Given the description of an element on the screen output the (x, y) to click on. 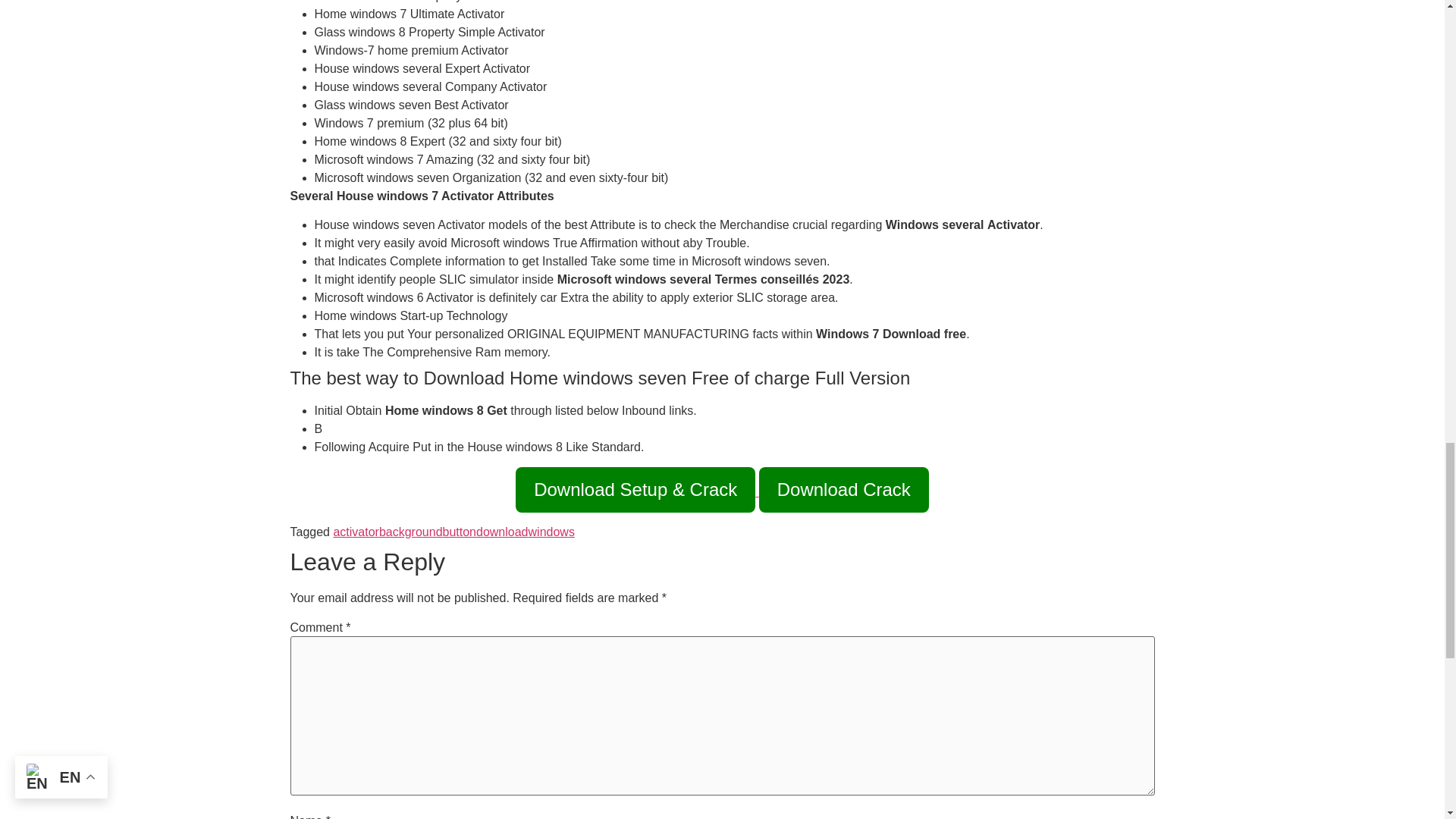
Download Crack (843, 489)
activator (355, 531)
background (410, 531)
button (459, 531)
windows (551, 531)
download (502, 531)
